Given the description of an element on the screen output the (x, y) to click on. 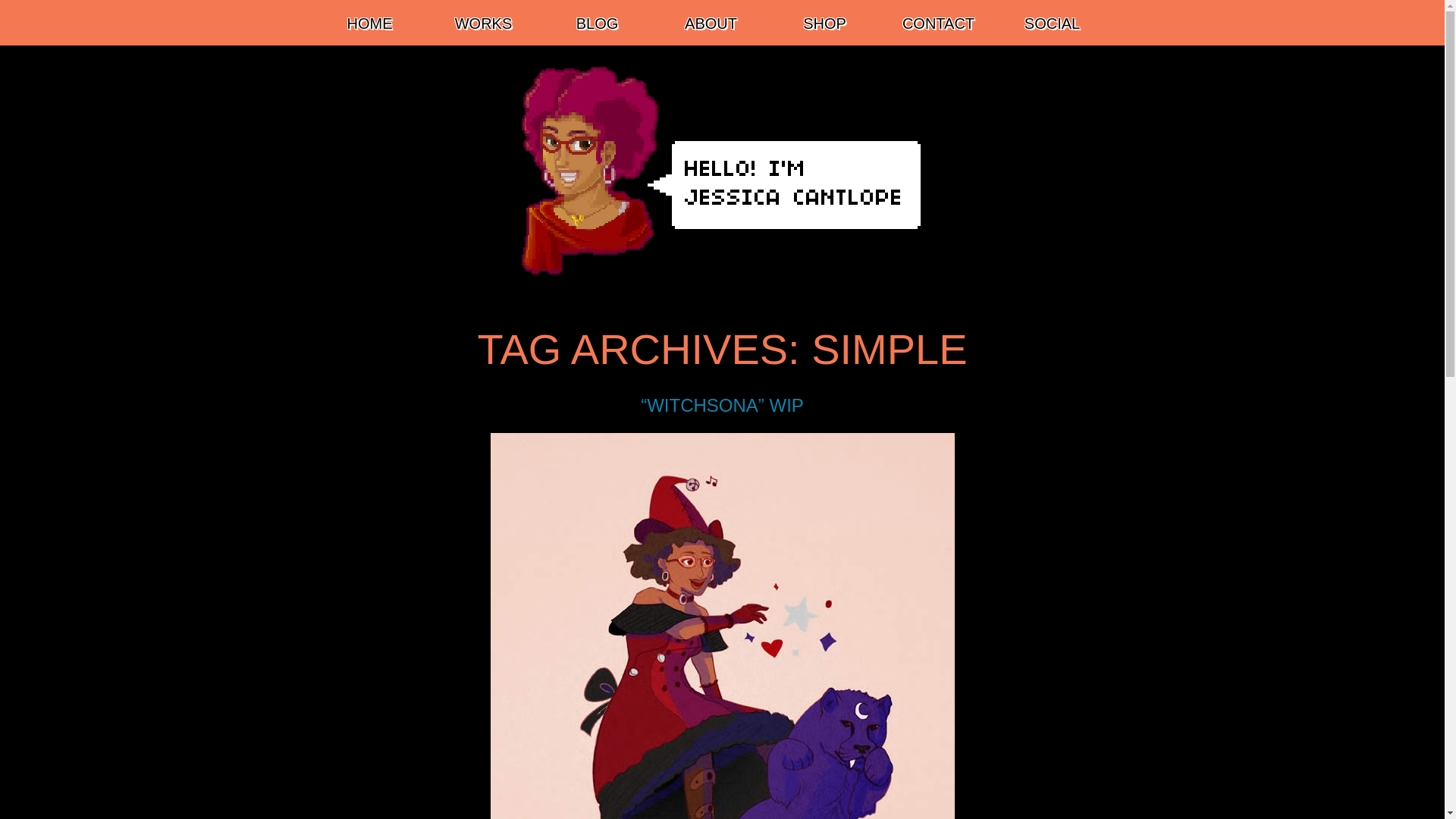
HOME (370, 22)
BLOG (597, 22)
WORKS (483, 22)
SOCIAL (1051, 22)
SHOP (824, 22)
ABOUT (711, 22)
CONTACT (938, 22)
